Given the description of an element on the screen output the (x, y) to click on. 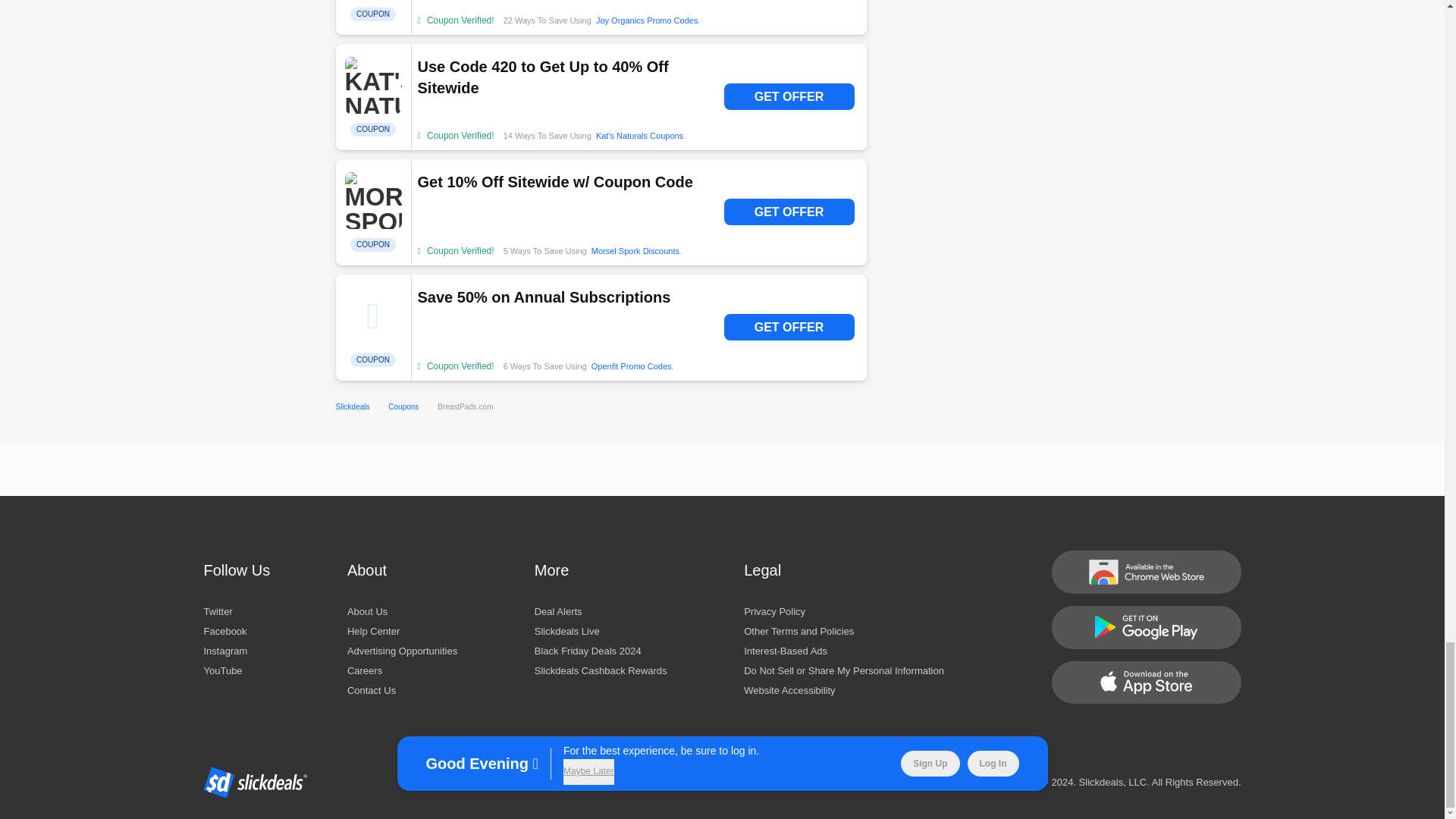
Install the Slickdeals Extension (1145, 570)
Install the Slickdeals Android App (1145, 627)
Install the Slickdeals iOS App (1145, 681)
